Given the description of an element on the screen output the (x, y) to click on. 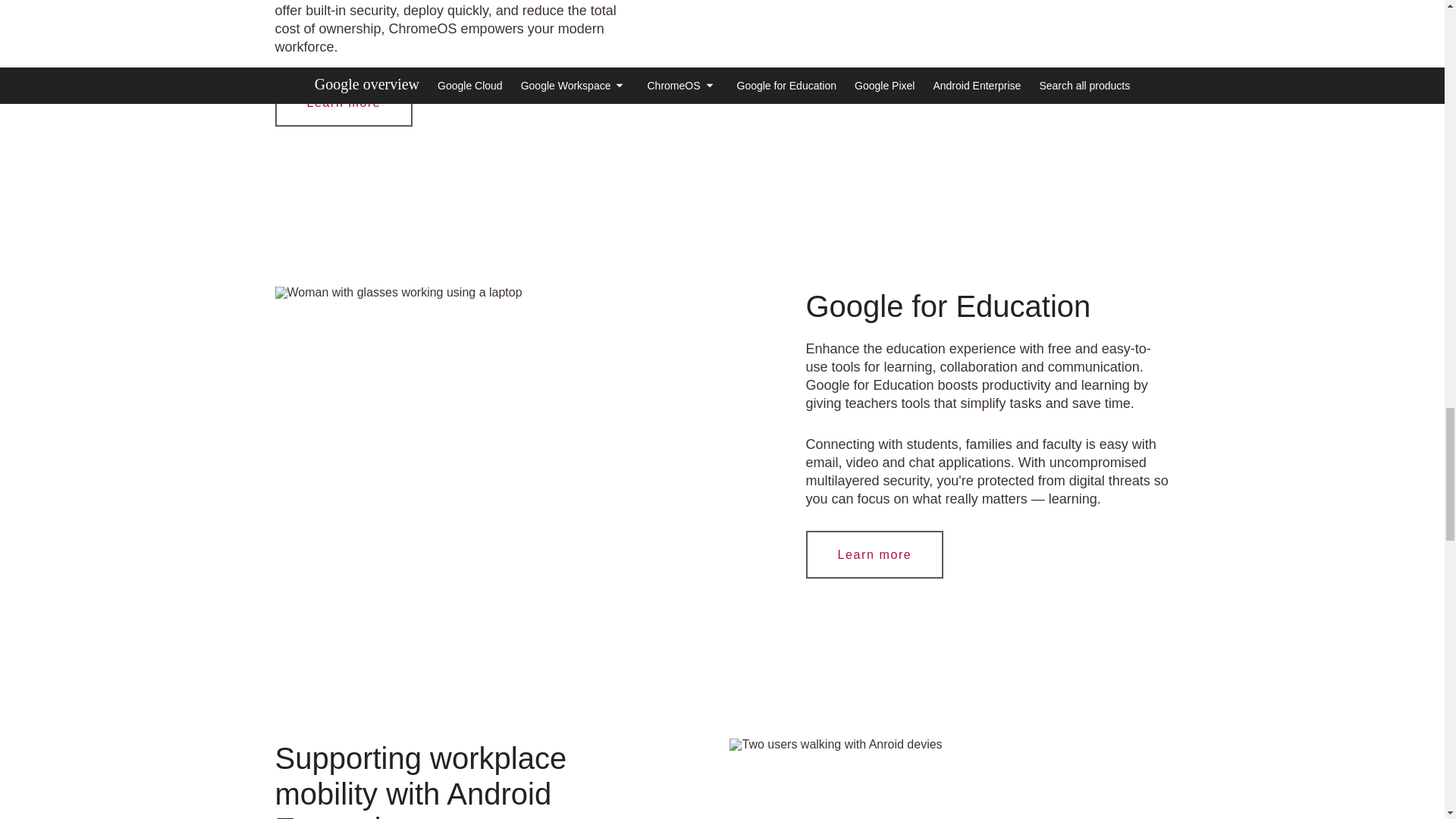
Learn more (344, 102)
Learn more (874, 554)
Enhance education. (398, 292)
